Given the description of an element on the screen output the (x, y) to click on. 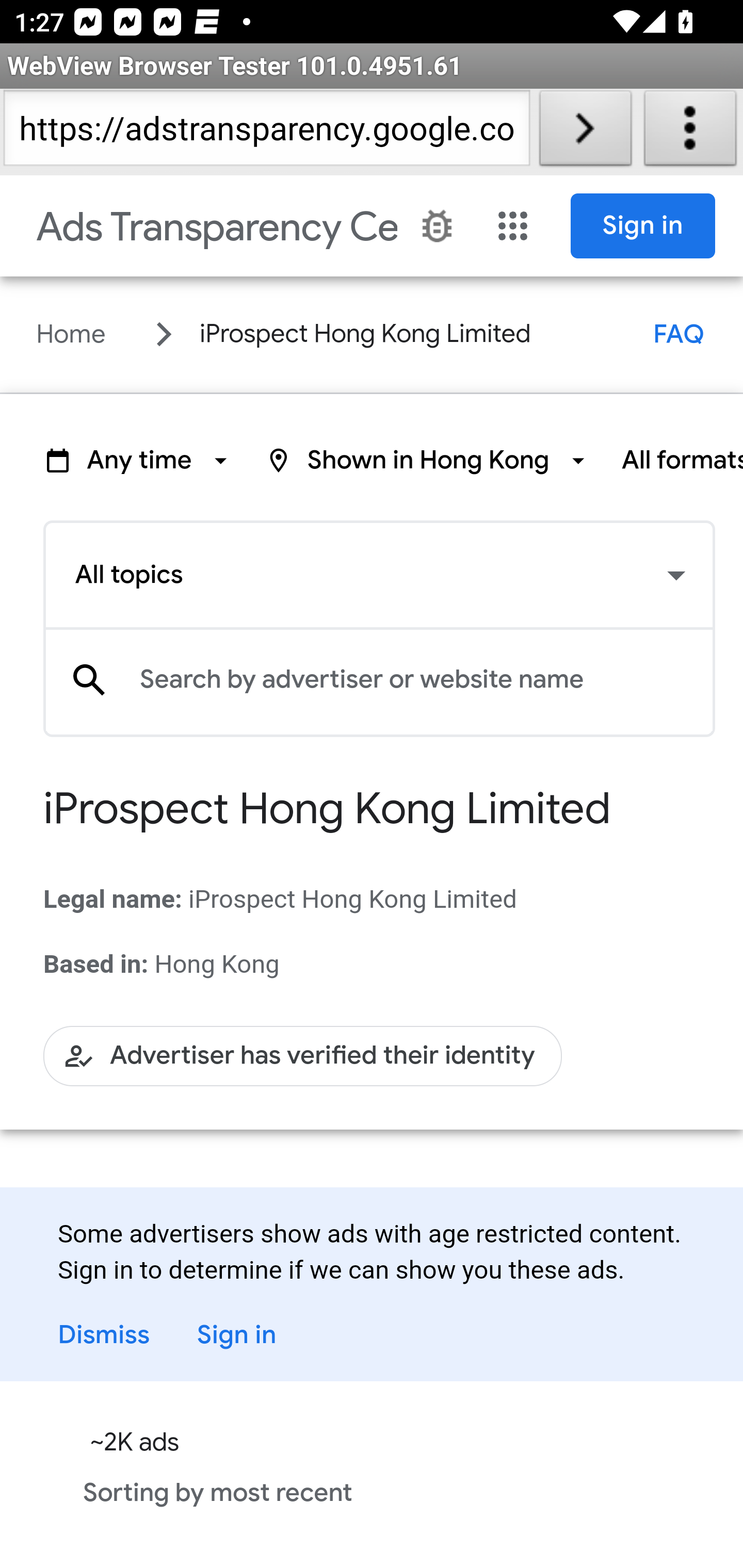
Load URL (585, 132)
About WebView (690, 132)
Send Bug Report (437, 226)
Google apps (513, 226)
Sign in (643, 226)
Home (71, 333)
FAQ (678, 333)
Date range filter button (139, 460)
Region selection filter button (428, 460)
All topics (378, 575)
Advertiser has verified their identity (303, 1054)
Dismiss (104, 1334)
Sign in (251, 1334)
